Given the description of an element on the screen output the (x, y) to click on. 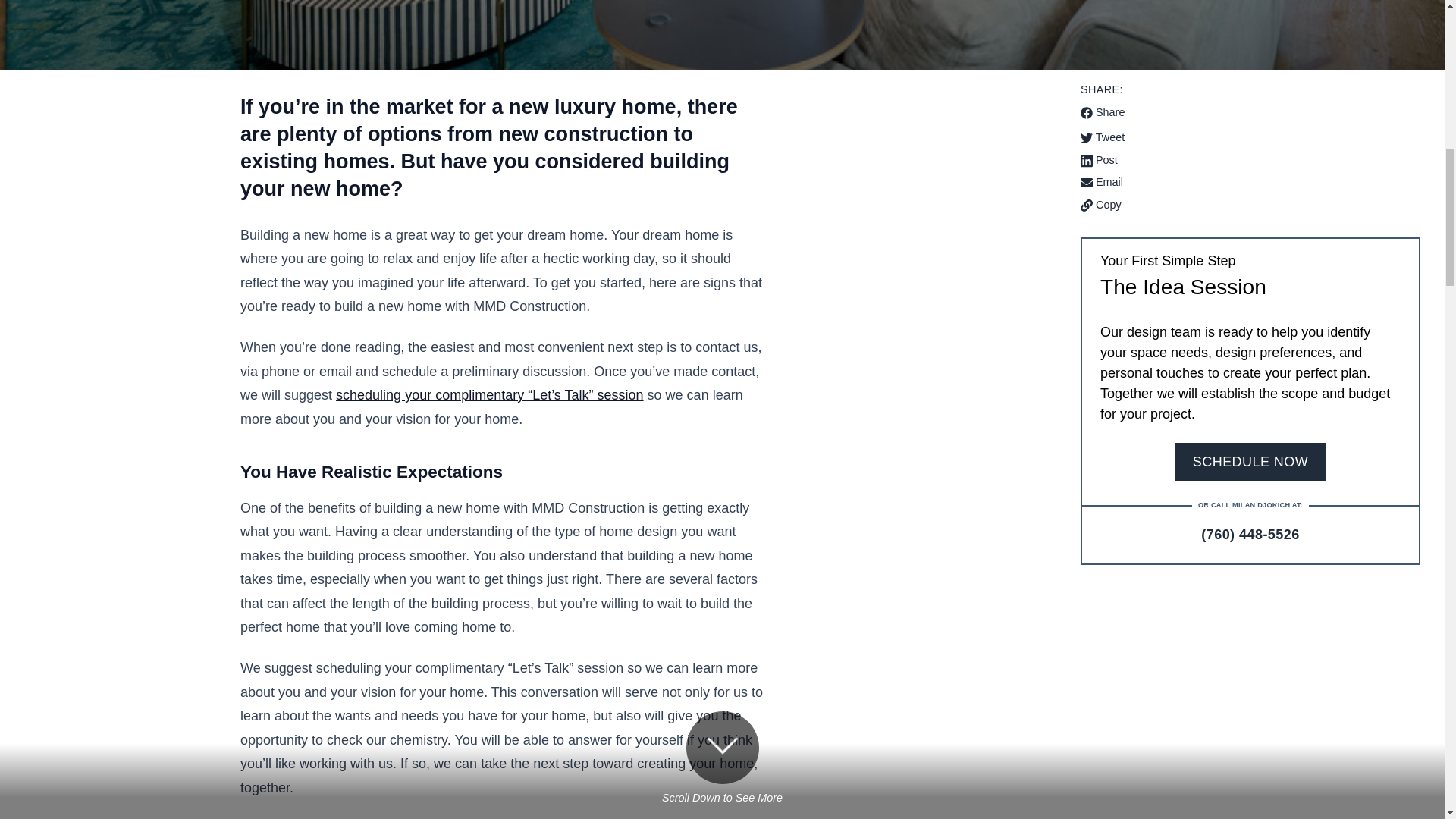
Tweet (1250, 137)
Share (1102, 111)
Post (1250, 160)
Copy (1100, 205)
Email (1250, 182)
SCHEDULE NOW (1250, 461)
